Given the description of an element on the screen output the (x, y) to click on. 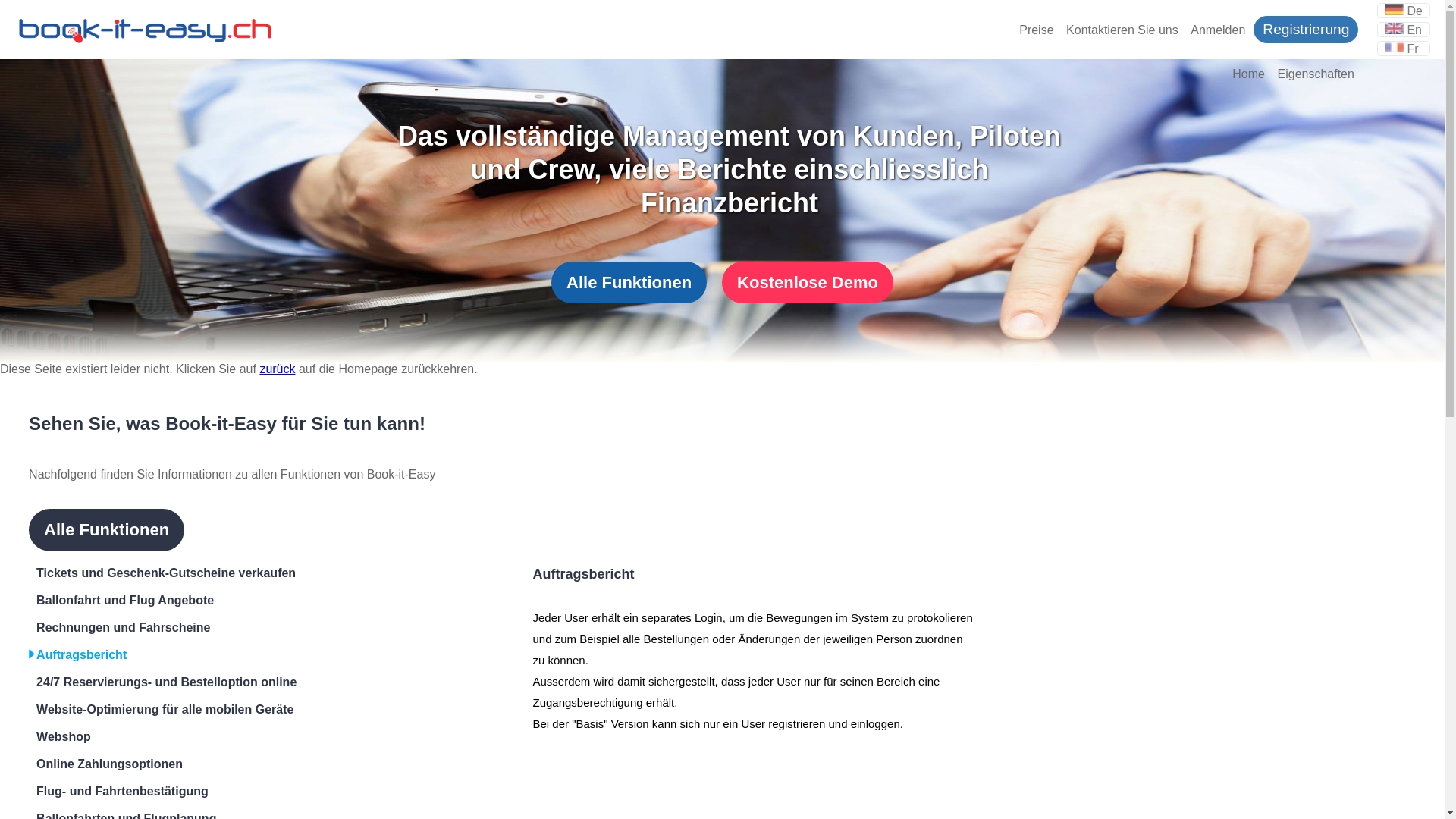
Home Element type: text (1248, 73)
Rechnungen und Fahrscheine Element type: text (242, 627)
Alle Funktionen Element type: text (628, 282)
Eigenschaften Element type: text (1315, 73)
De Element type: text (1403, 9)
Auftragsbericht Element type: text (242, 655)
Ballonfahrt und Flug Angebote Element type: text (242, 600)
Kostenlose Demo Element type: text (807, 282)
Tickets und Geschenk-Gutscheine verkaufen Element type: text (242, 573)
Kontaktieren Sie uns Element type: text (1122, 29)
24/7 Reservierungs- und Bestelloption online Element type: text (242, 682)
Online Zahlungsoptionen Element type: text (242, 764)
Registrierung Element type: text (1305, 29)
Fr Element type: text (1401, 47)
Webshop Element type: text (242, 736)
Preise Element type: text (1036, 29)
Anmelden Element type: text (1217, 29)
En Element type: text (1402, 28)
Alle Funktionen Element type: text (106, 529)
